Given the description of an element on the screen output the (x, y) to click on. 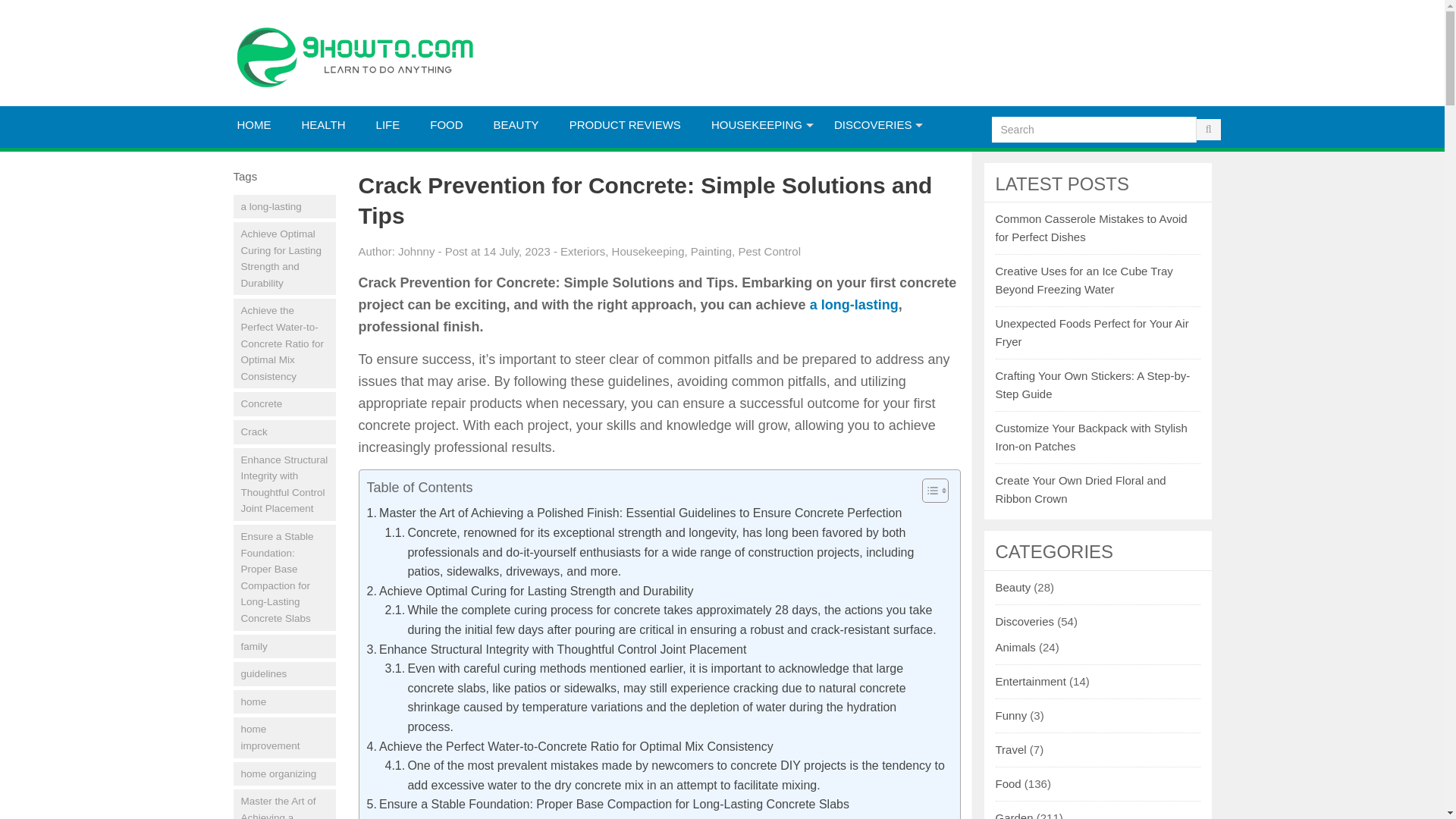
HOUSEKEEPING (756, 125)
a long-lasting (284, 206)
a long-lasting (853, 304)
LIFE (387, 125)
guidelines (284, 673)
DISCOVERIES (873, 125)
Achieve Optimal Curing for Lasting Strength and Durability (284, 257)
home (284, 702)
Achieve Optimal Curing for Lasting Strength and Durability (530, 591)
Crack (284, 432)
